Given the description of an element on the screen output the (x, y) to click on. 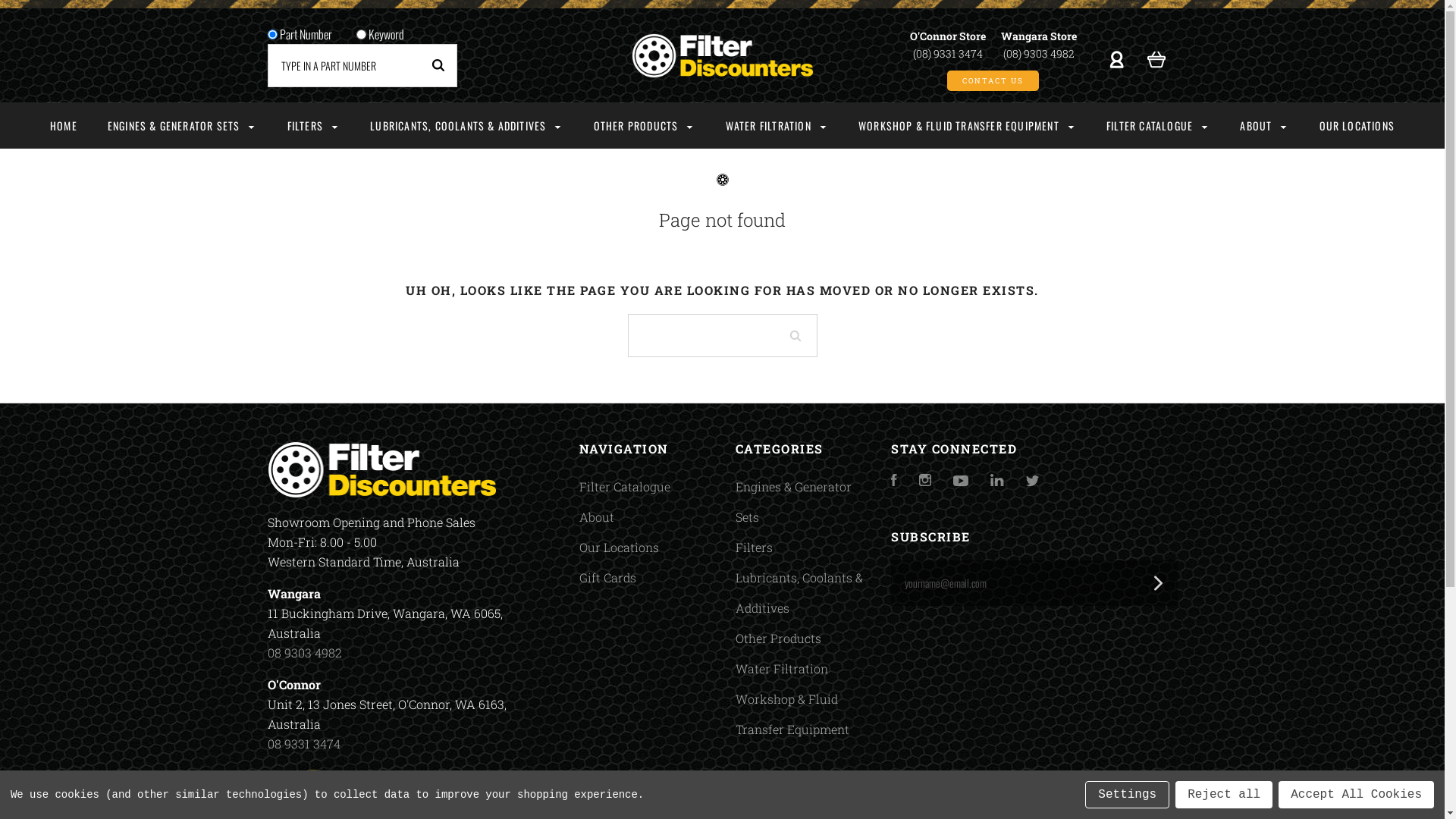
Reject all Element type: text (1223, 794)
ABOUT Element type: text (1264, 126)
08 9331 3474 Element type: text (302, 743)
Settings Element type: text (1127, 794)
keyword Element type: text (361, 34)
Other Products Element type: text (778, 638)
(08) 9303 4982 Element type: text (1037, 53)
Water Filtration Element type: text (781, 668)
WORKSHOP & FLUID TRANSFER EQUIPMENT Element type: text (966, 126)
Filters Element type: text (753, 547)
OTHER PRODUCTS Element type: text (644, 126)
ENGINES & GENERATOR SETS Element type: text (182, 126)
Filter Catalogue Element type: text (624, 486)
FILTER CATALOGUE Element type: text (1157, 126)
instagram
Instagram Element type: text (925, 481)
sku Element type: text (271, 34)
08 9303 4982 Element type: text (303, 652)
LUBRICANTS, COOLANTS & ADDITIVES Element type: text (466, 126)
linkedin
LinkedIn Element type: text (997, 481)
Gift Cards Element type: text (607, 577)
Our Locations Element type: text (618, 547)
0 Element type: text (1155, 58)
facebook
Facebook Element type: text (894, 481)
WATER FILTRATION Element type: text (776, 126)
youtube
YouTube Element type: text (960, 481)
Accept All Cookies Element type: text (1356, 794)
Lubricants, Coolants & Additives Element type: text (798, 592)
Workshop & Fluid Transfer Equipment Element type: text (792, 713)
(08) 9331 3474 Element type: text (947, 53)
HOME Element type: text (63, 126)
About Element type: text (596, 516)
OUR LOCATIONS Element type: text (1356, 126)
Engines & Generator Sets Element type: text (793, 501)
CONTACT US Element type: text (992, 79)
twitter
Twitter Element type: text (1032, 481)
FILTERS Element type: text (313, 126)
